Given the description of an element on the screen output the (x, y) to click on. 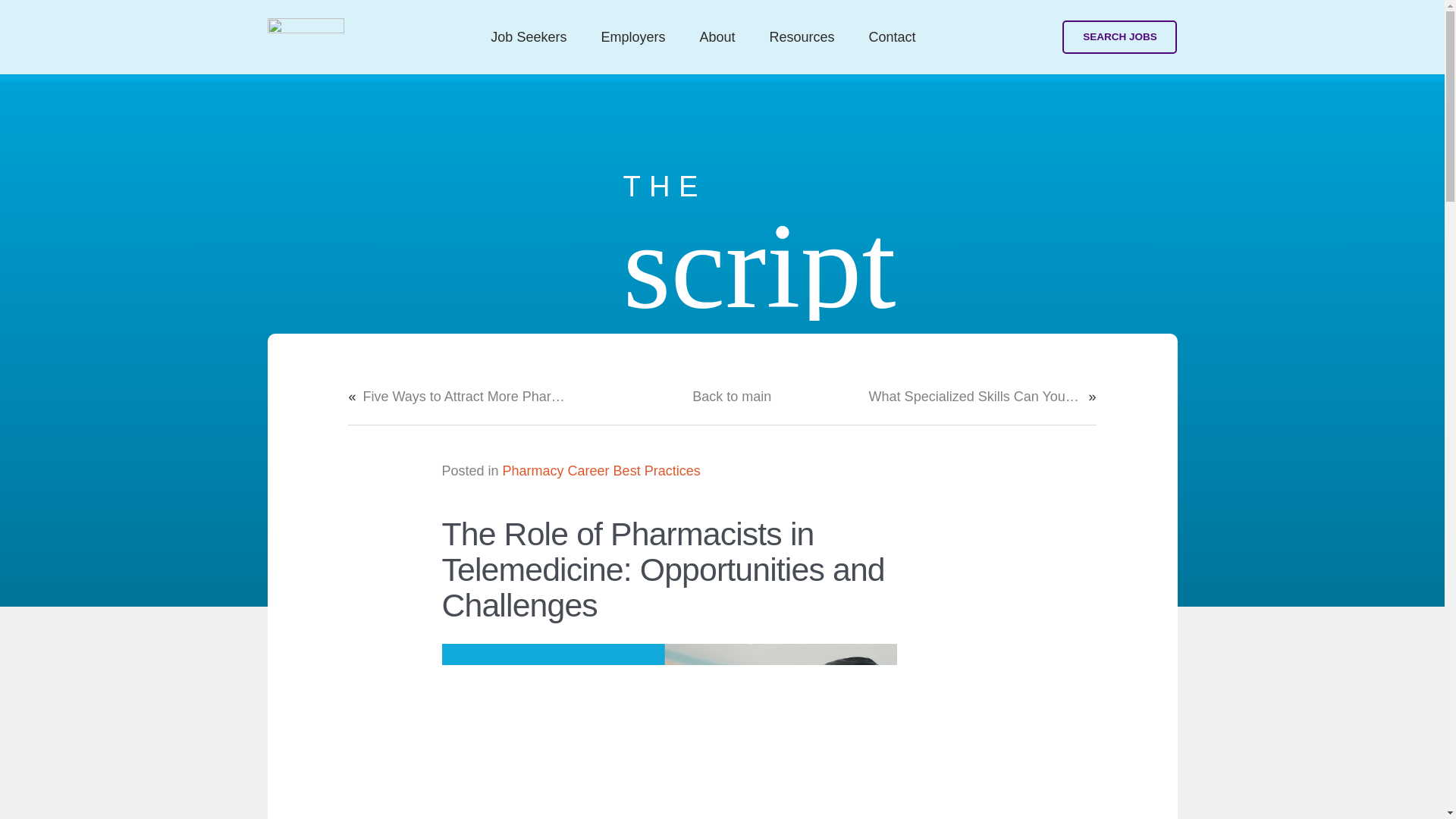
Pharmacy Career Best Practices (601, 470)
Job Seekers (528, 37)
About (717, 37)
SEARCH JOBS (1119, 37)
Employers (632, 37)
Resources (801, 37)
Back to main (732, 395)
Five Ways to Attract More Pharmacists to Your Pharmacy (468, 395)
Contact (892, 37)
